Given the description of an element on the screen output the (x, y) to click on. 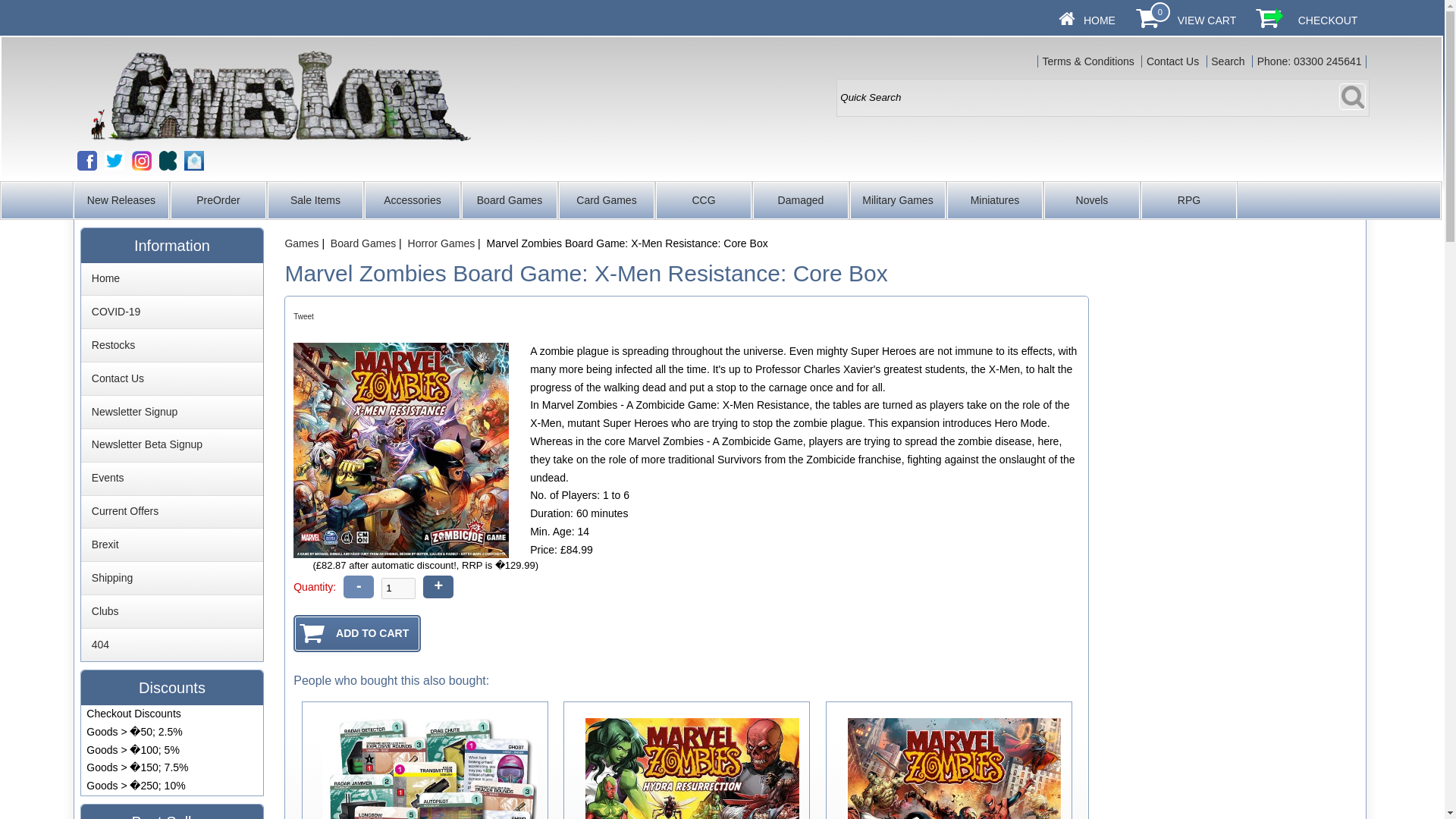
Link To Games Lore Ltd's Facebook Page (87, 160)
VIEW CART (1206, 20)
Link to the Games Lore Instagram account (141, 160)
Go! (1352, 96)
Marvel Zombies Board Game: Hydra Resurrection (692, 768)
Marvel Zombies Board Game: Core Box (954, 768)
Quick Search (1102, 97)
Go! (1352, 96)
PreOrder (218, 200)
1 (397, 588)
New Releases (121, 200)
Add To Cart (357, 633)
Go! (1352, 96)
What has Paul backed on Kickstarter? (167, 160)
Car Wars Board Game: Sixth Edition: Uncle Al's Upgrade Pack (430, 768)
